Given the description of an element on the screen output the (x, y) to click on. 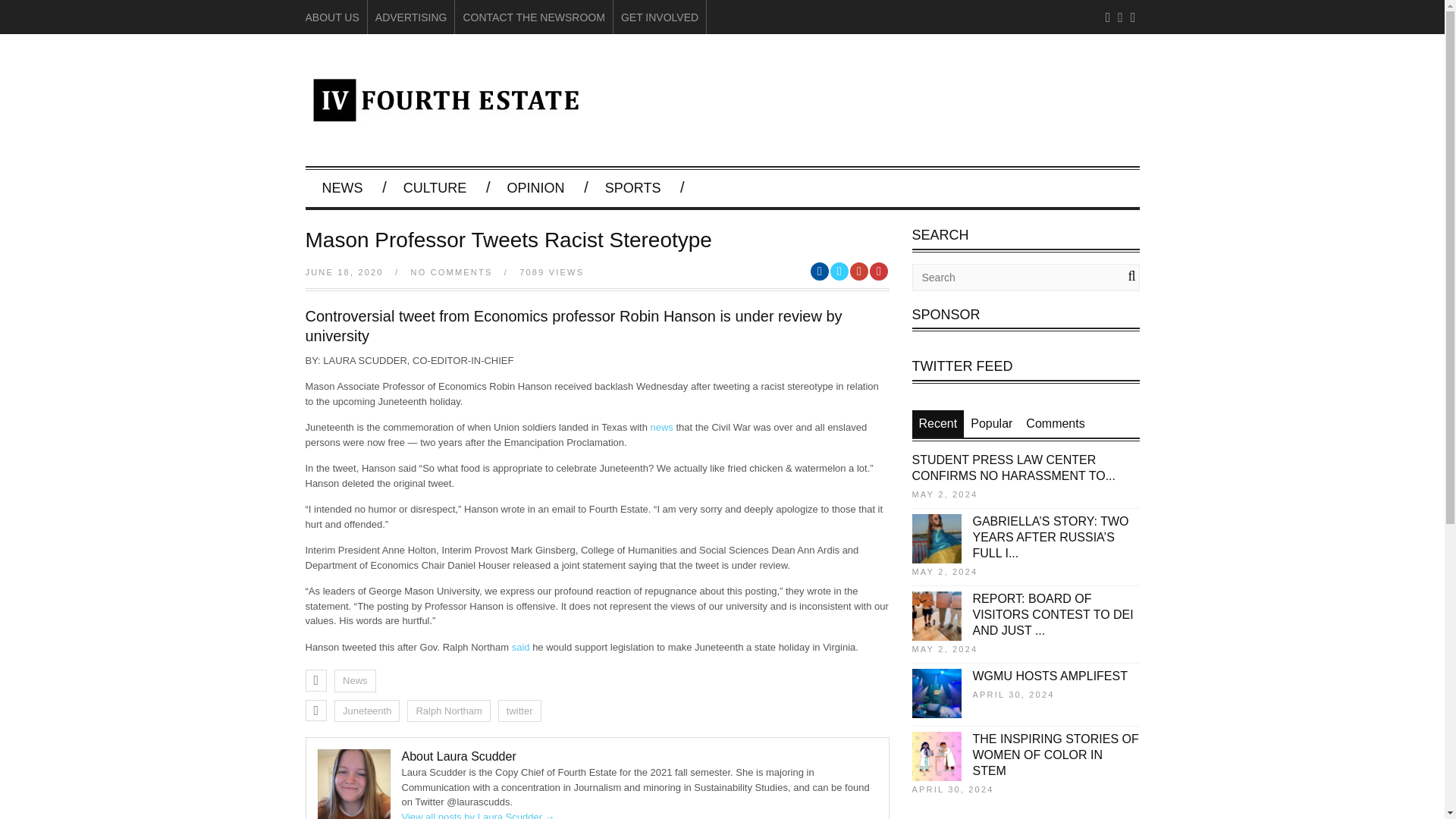
ADVERTISING (410, 17)
GET INVOLVED (659, 17)
Fourth Estate (444, 121)
ABOUT US (331, 17)
CONTACT THE NEWSROOM (533, 17)
